Given the description of an element on the screen output the (x, y) to click on. 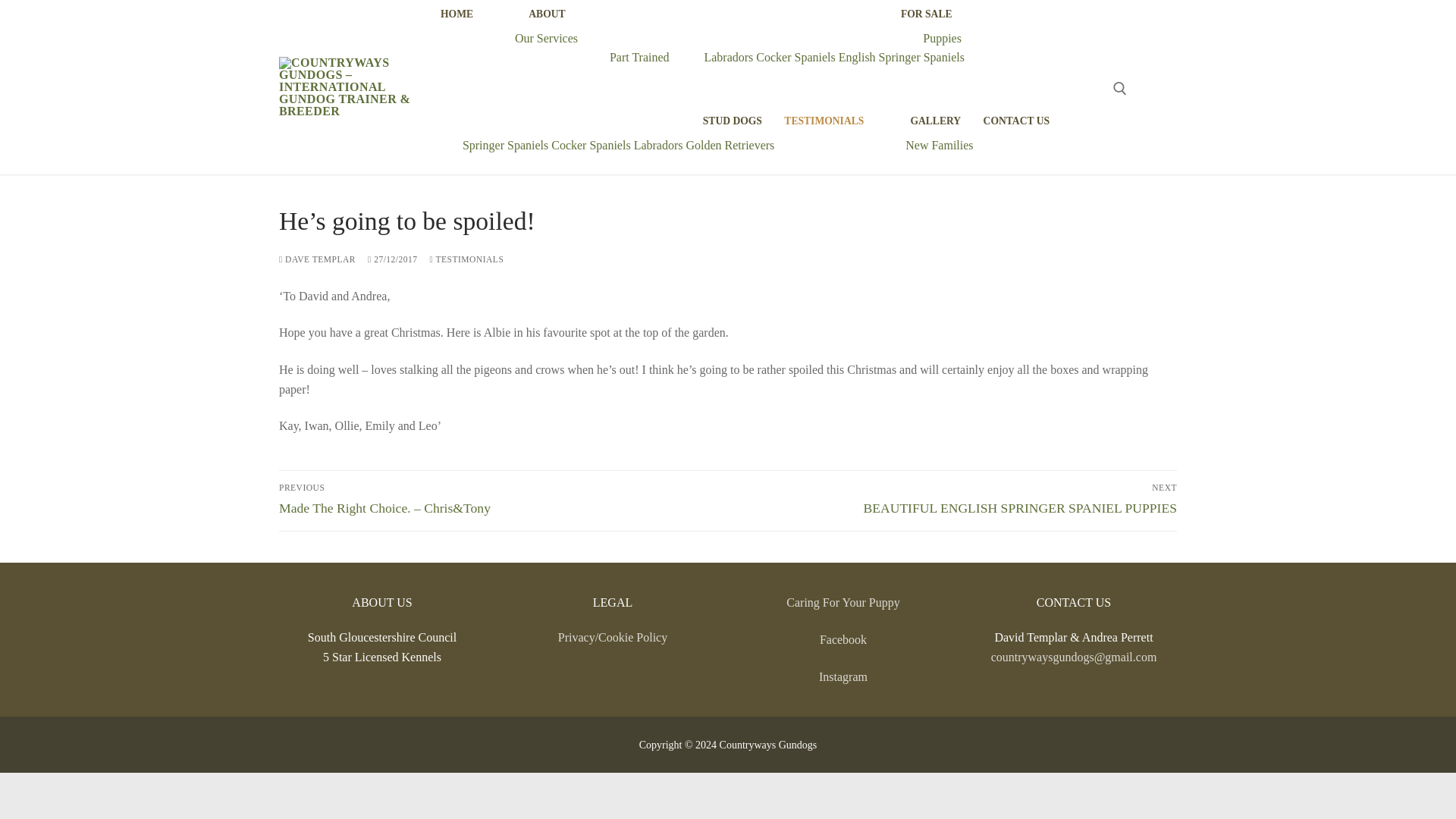
Part Trained (733, 121)
English Springer Spaniels (943, 38)
Cocker Spaniels (935, 121)
CONTACT US (639, 57)
New Families (900, 57)
Our Services (794, 57)
HOME (1016, 121)
